Given the description of an element on the screen output the (x, y) to click on. 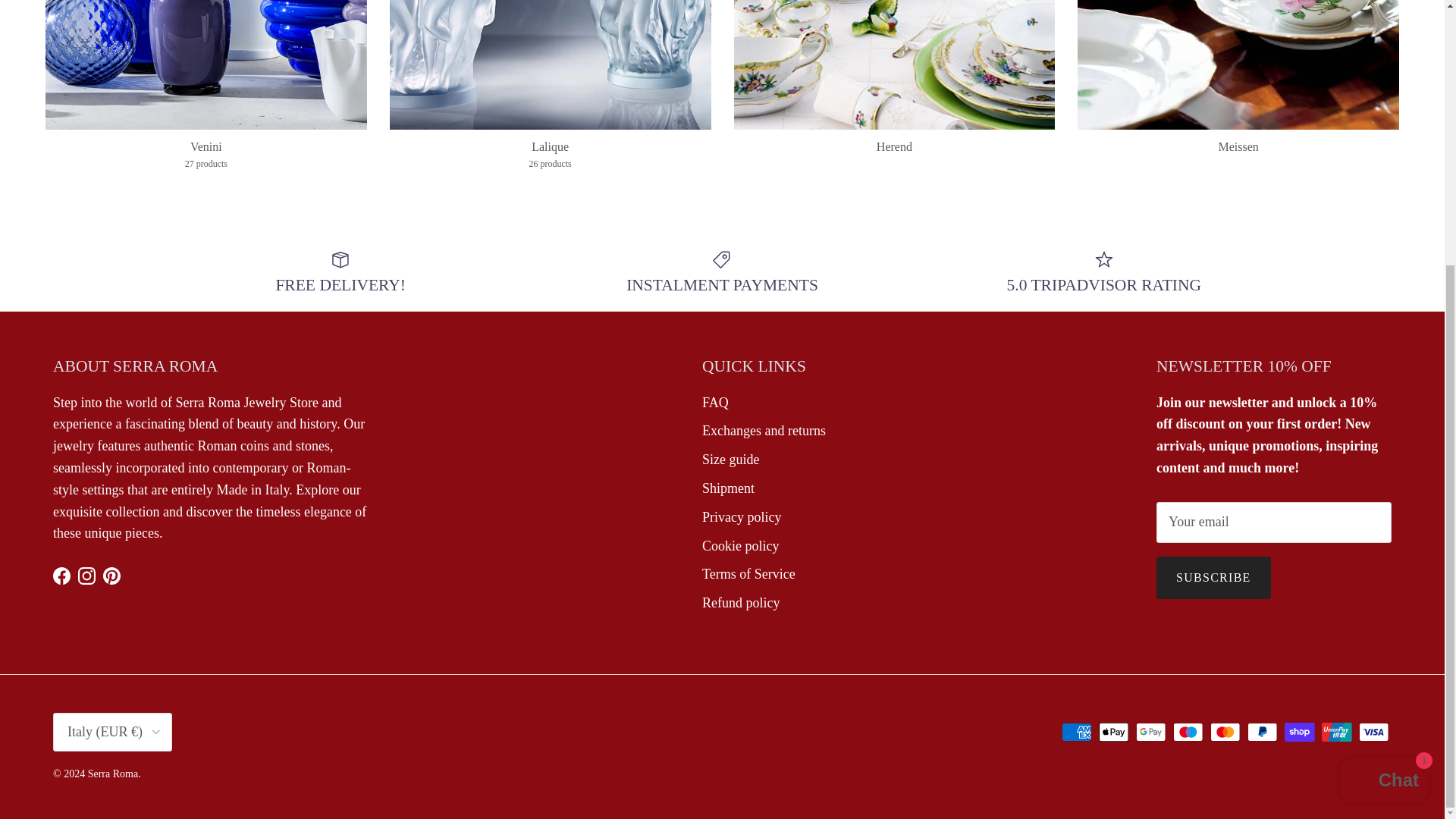
Maestro (1187, 732)
American Express (1076, 732)
Apple Pay (1113, 732)
Shop Pay (1299, 732)
Serra Roma on Facebook (60, 575)
Google Pay (1150, 732)
Serra Roma on Pinterest (111, 575)
Union Pay (1336, 732)
Serra Roma on Instagram (87, 575)
PayPal (1261, 732)
Mastercard (1224, 732)
Shopify online store chat (1383, 397)
